Given the description of an element on the screen output the (x, y) to click on. 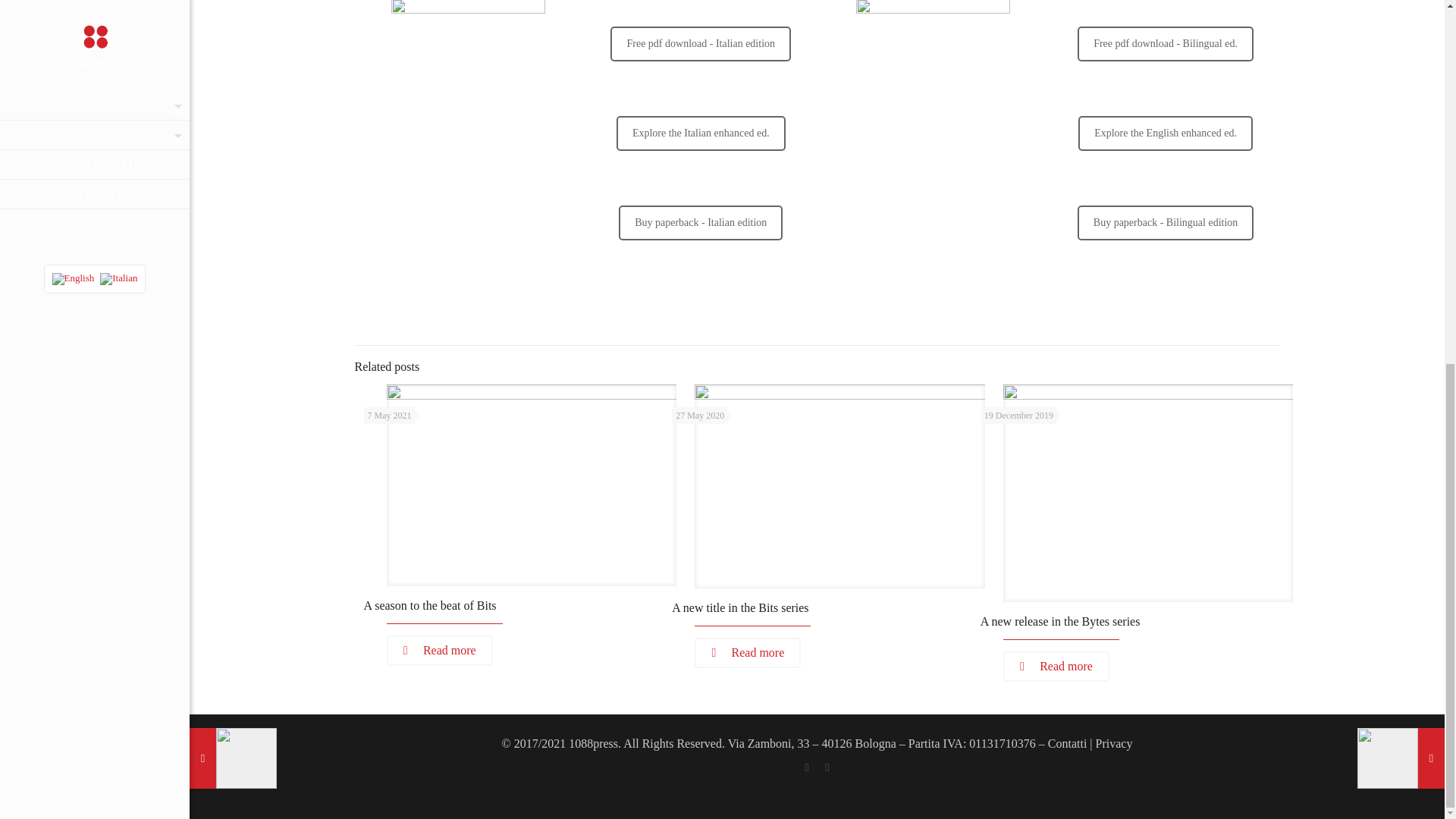
Free pdf download - Italian edition (700, 43)
Facebook (807, 767)
Free pdf download - Bilingual ed. (1165, 43)
Buy paperback - Bilingual edition (1165, 222)
Explore the English enhanced ed. (1165, 133)
A season to the beat of Bits (430, 604)
Explore the Italian enhanced ed. (700, 133)
Instagram (826, 767)
Buy paperback - Italian edition (700, 222)
Read more (440, 650)
